Given the description of an element on the screen output the (x, y) to click on. 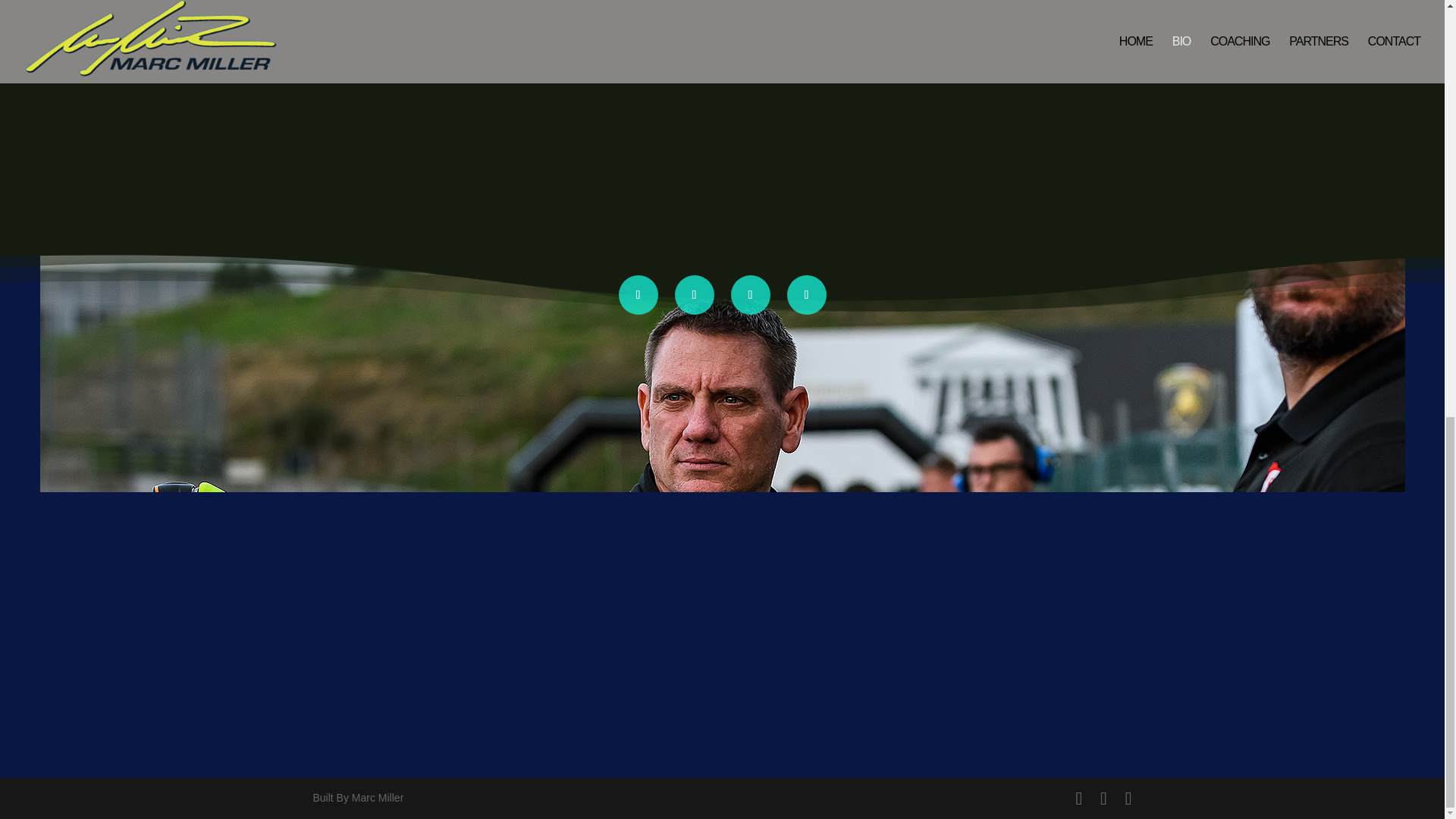
Follow on X (694, 294)
Follow on Youtube (807, 294)
Follow on Instagram (750, 294)
Follow on Facebook (638, 294)
